Given the description of an element on the screen output the (x, y) to click on. 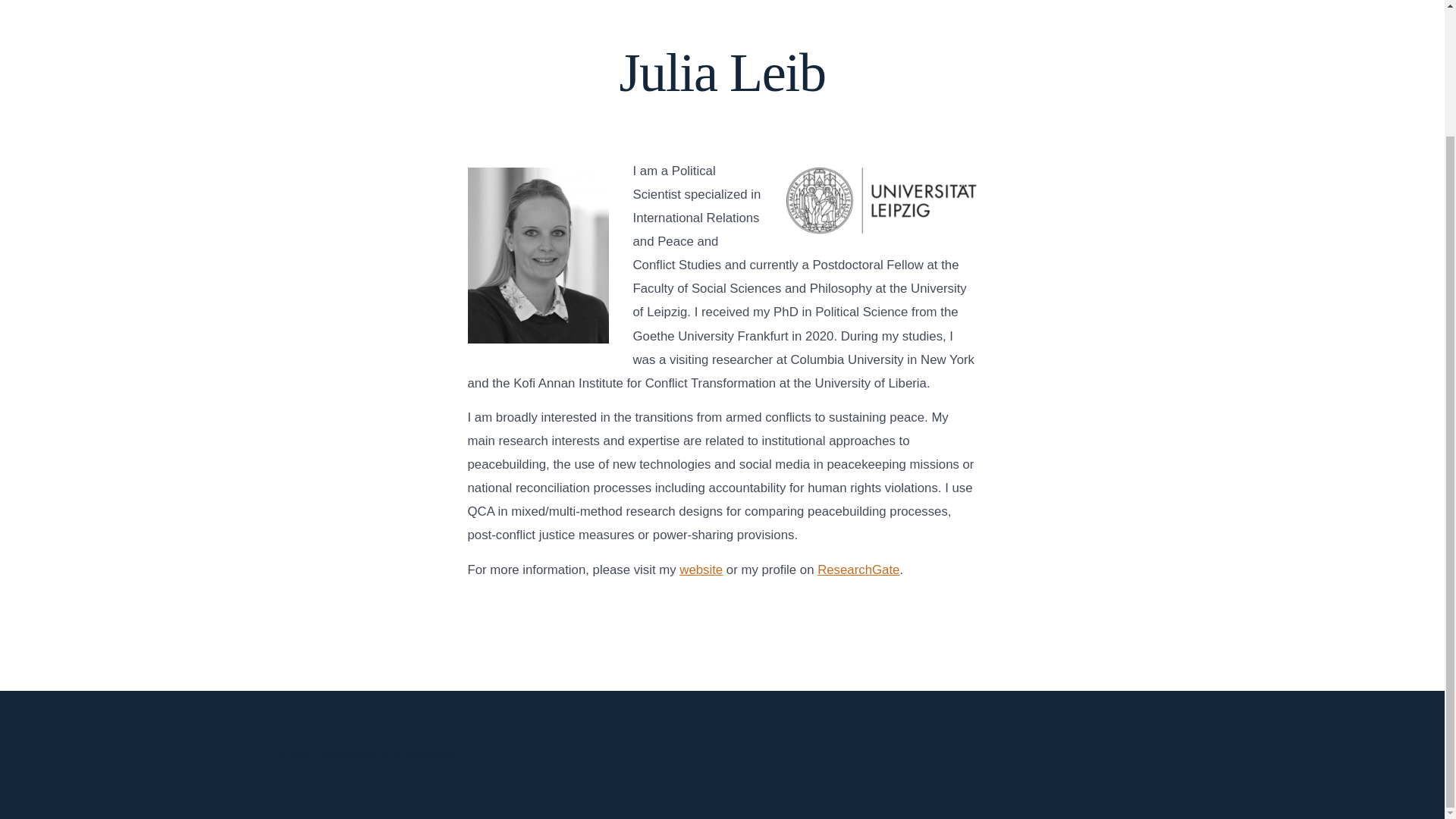
website (700, 569)
ResearchGate (857, 569)
